Given the description of an element on the screen output the (x, y) to click on. 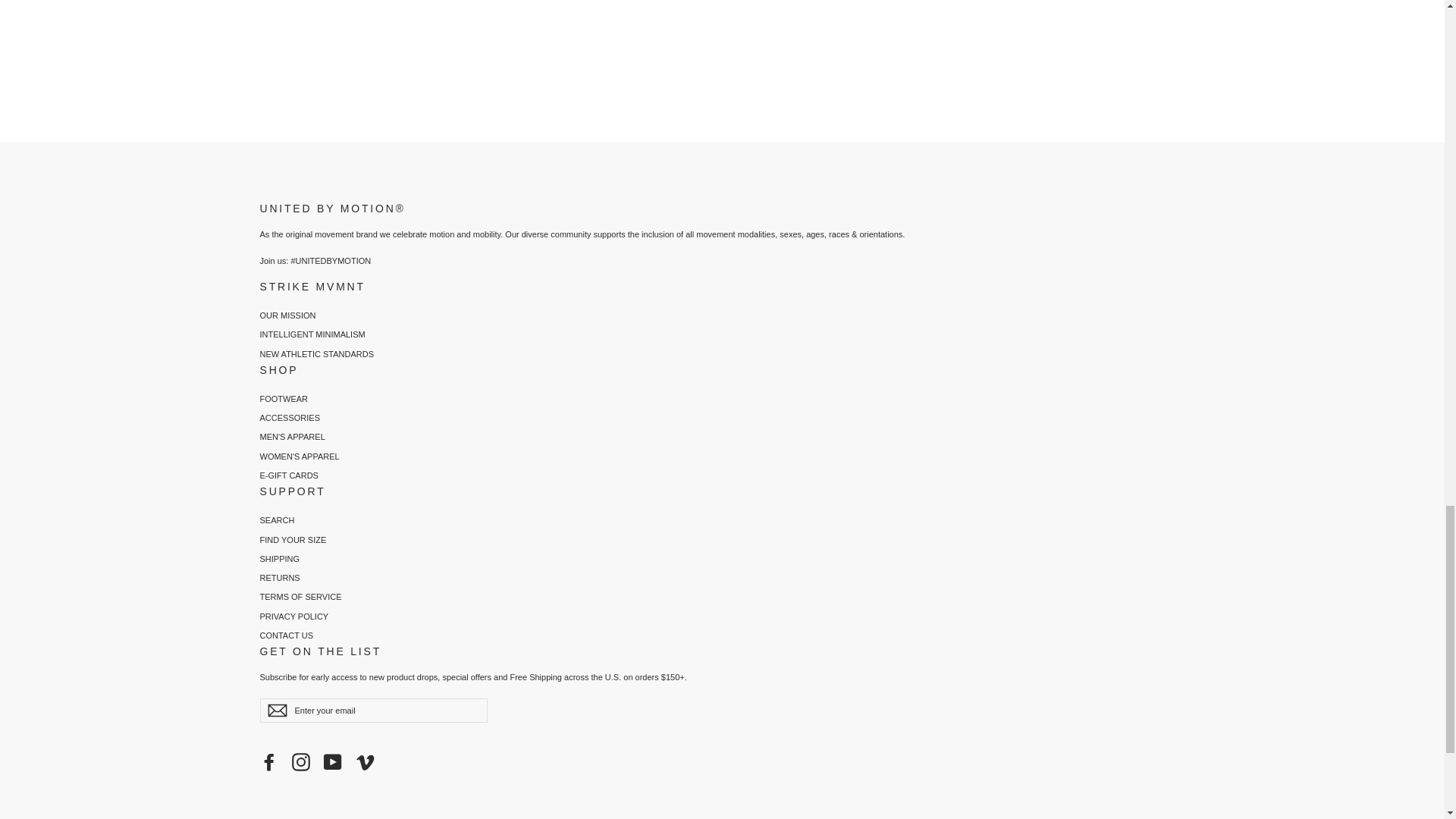
STRIKE MVMNT on Vimeo (365, 761)
STRIKE MVMNT on Facebook (268, 761)
STRIKE MVMNT on YouTube (332, 761)
STRIKE MVMNT on Instagram (301, 761)
